Given the description of an element on the screen output the (x, y) to click on. 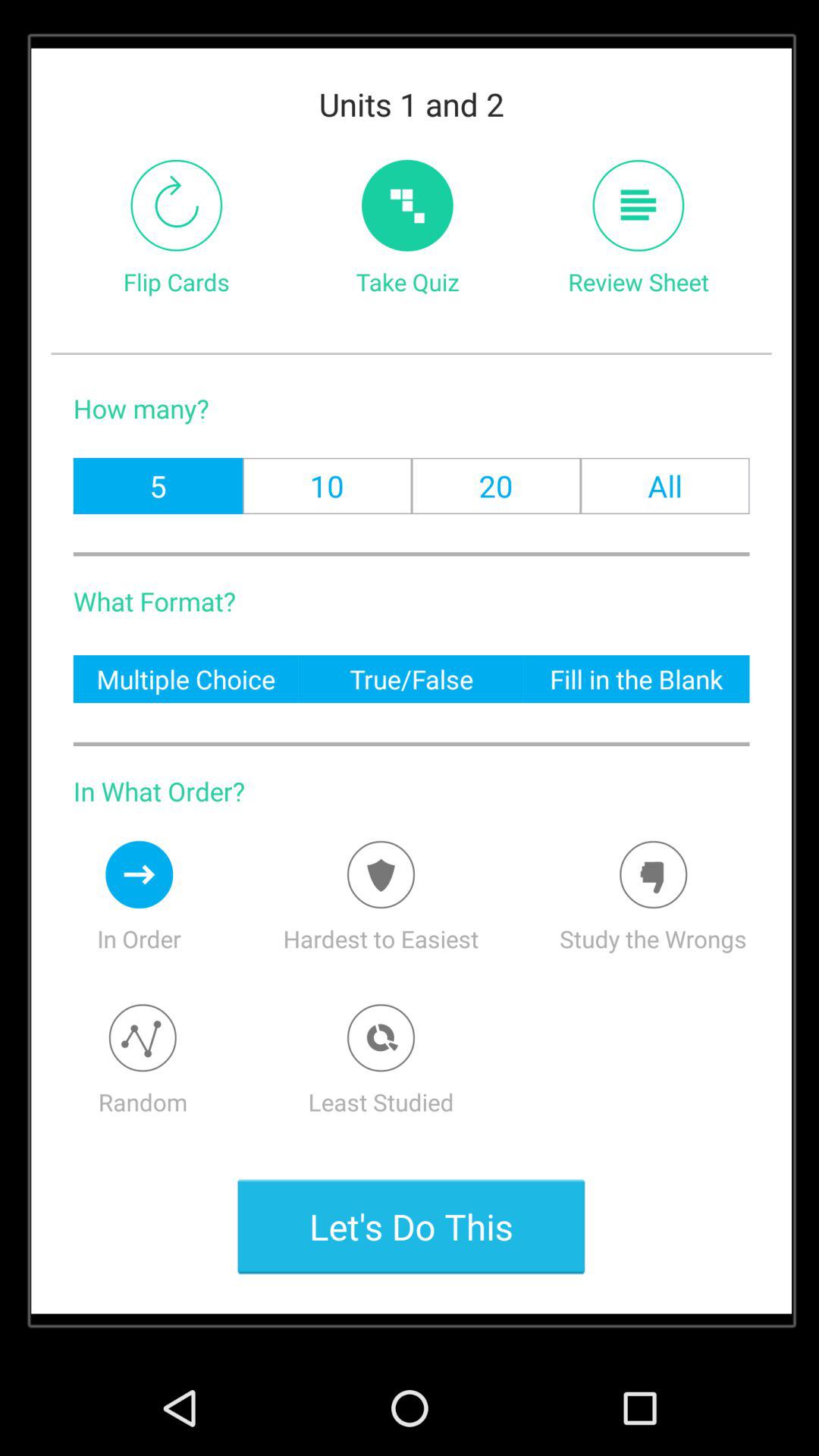
choose the item next to the fill in the (410, 678)
